Given the description of an element on the screen output the (x, y) to click on. 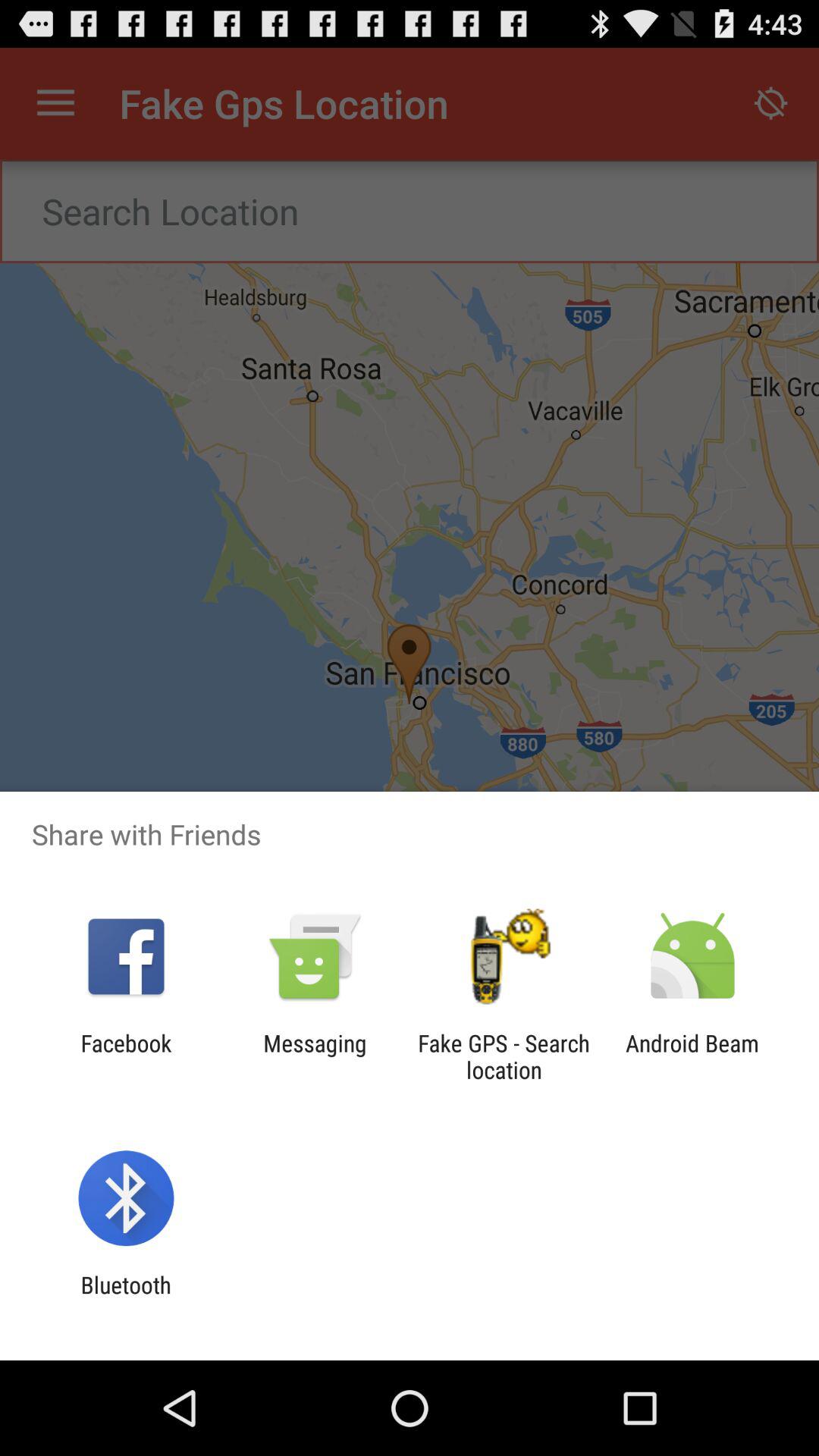
press android beam app (692, 1056)
